Given the description of an element on the screen output the (x, y) to click on. 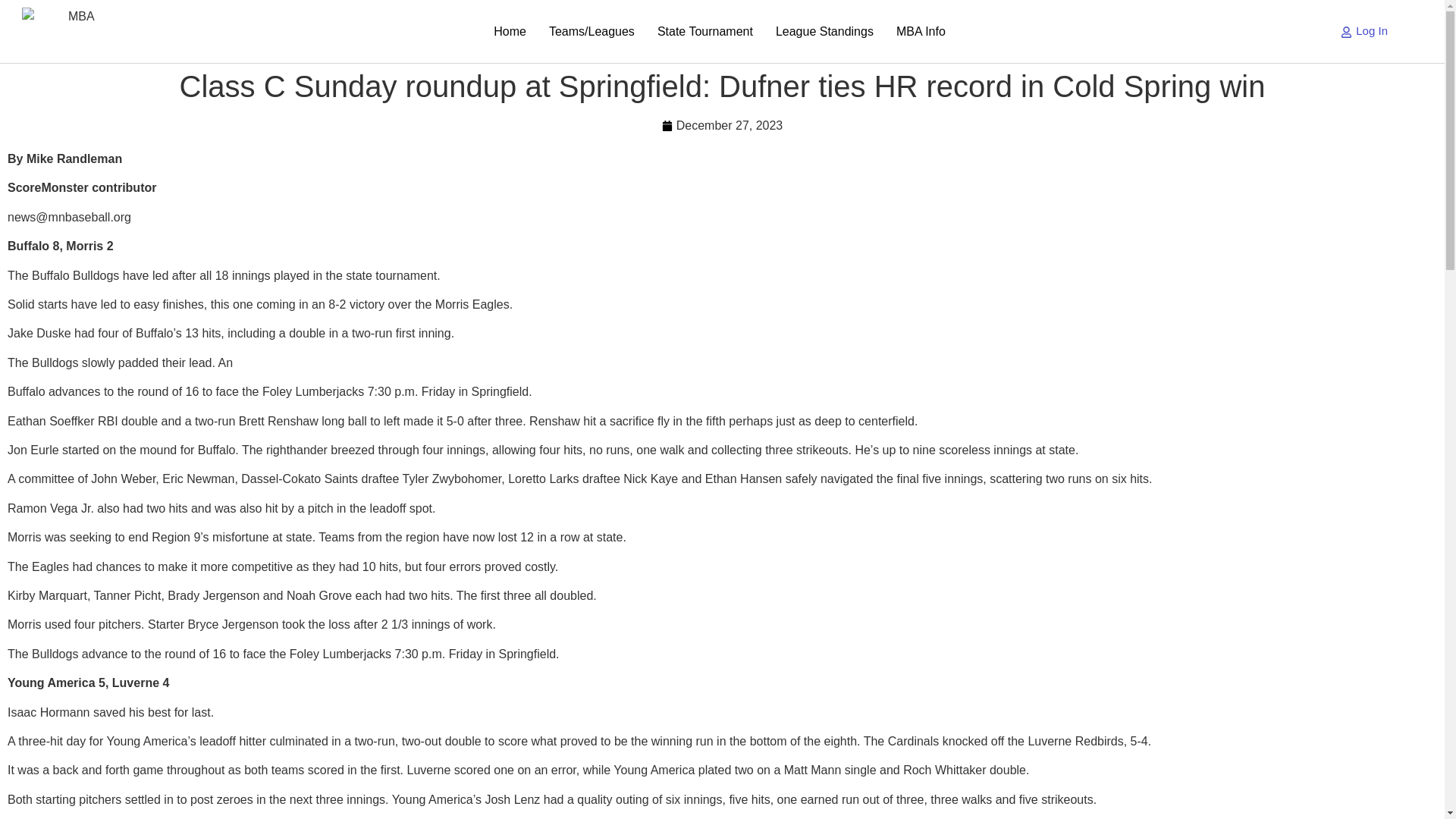
State Tournament (705, 31)
League Standings (824, 31)
Home (509, 31)
MBA Info (920, 31)
Log In (1363, 31)
